Given the description of an element on the screen output the (x, y) to click on. 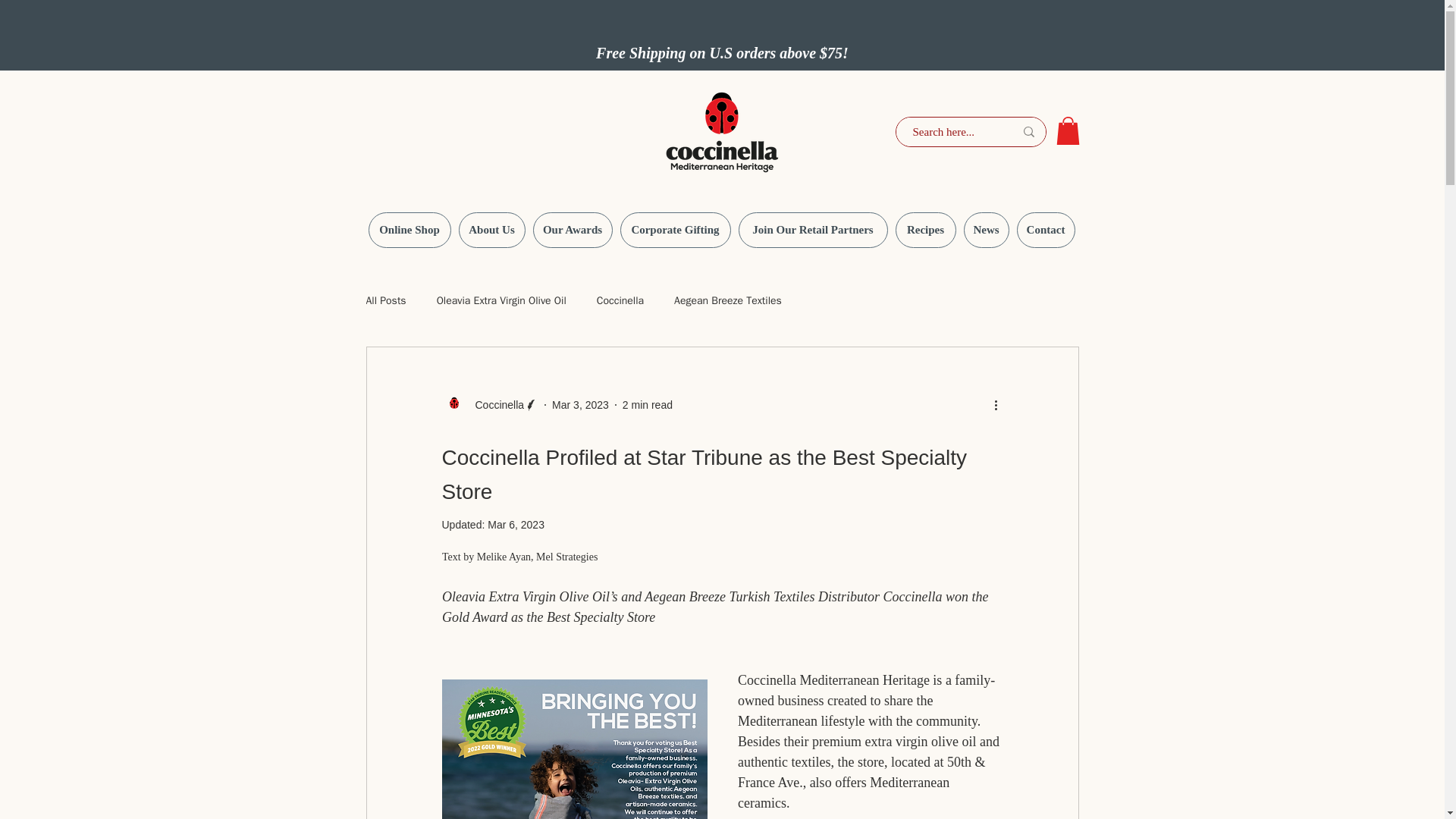
About Us (491, 230)
Mar 3, 2023 (579, 404)
News (985, 230)
Coccinella (619, 300)
2 min read (647, 404)
Contact (1045, 230)
Our Awards (571, 230)
All Posts (385, 300)
Mar 6, 2023 (515, 524)
Coccinella (489, 404)
